Given the description of an element on the screen output the (x, y) to click on. 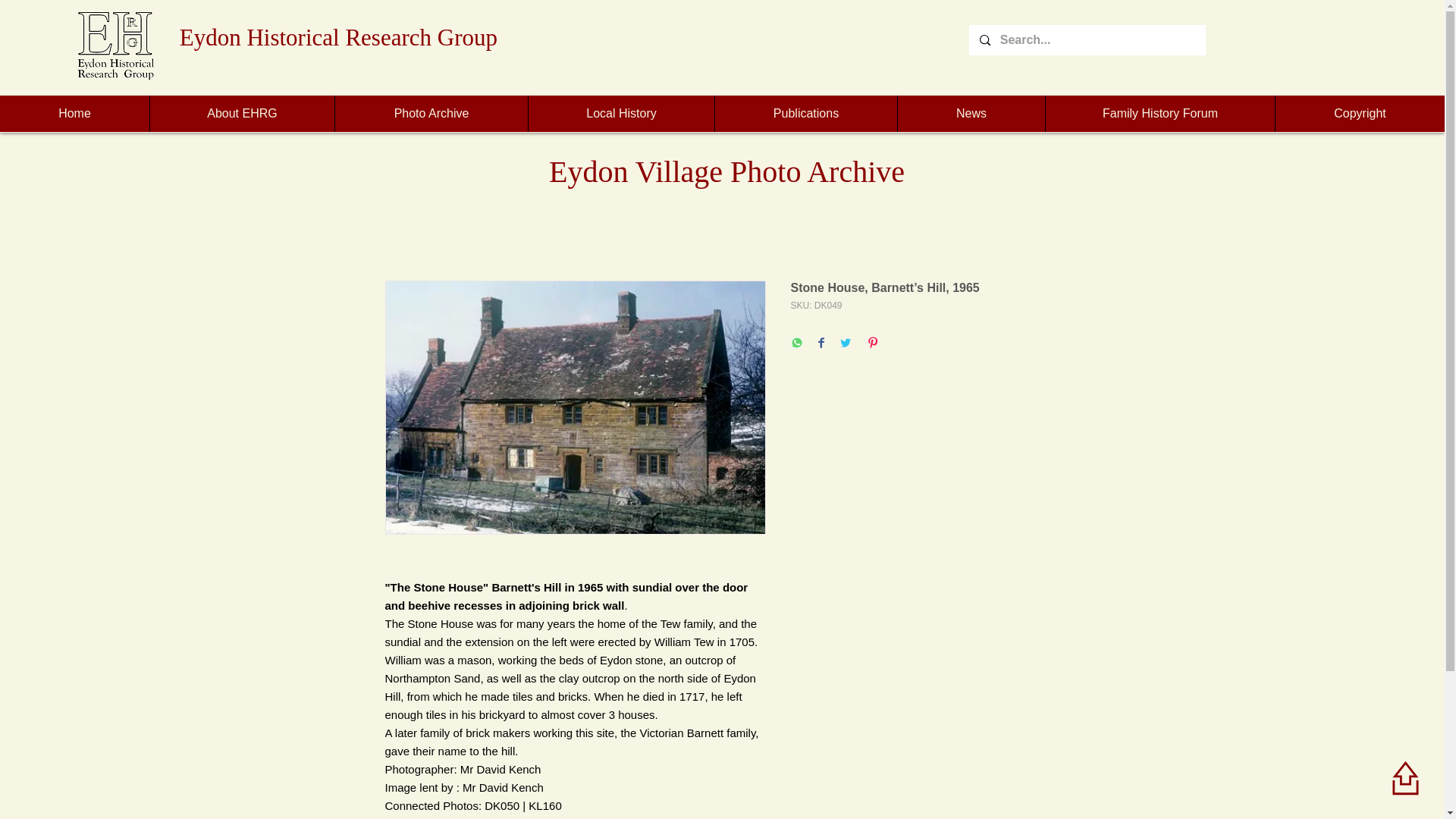
Home (74, 113)
Publications (805, 113)
Local History (620, 113)
Family History Forum (1160, 113)
News (970, 113)
Eydon Historical Research Group (338, 37)
Photo Archive (430, 113)
About EHRG (241, 113)
